Given the description of an element on the screen output the (x, y) to click on. 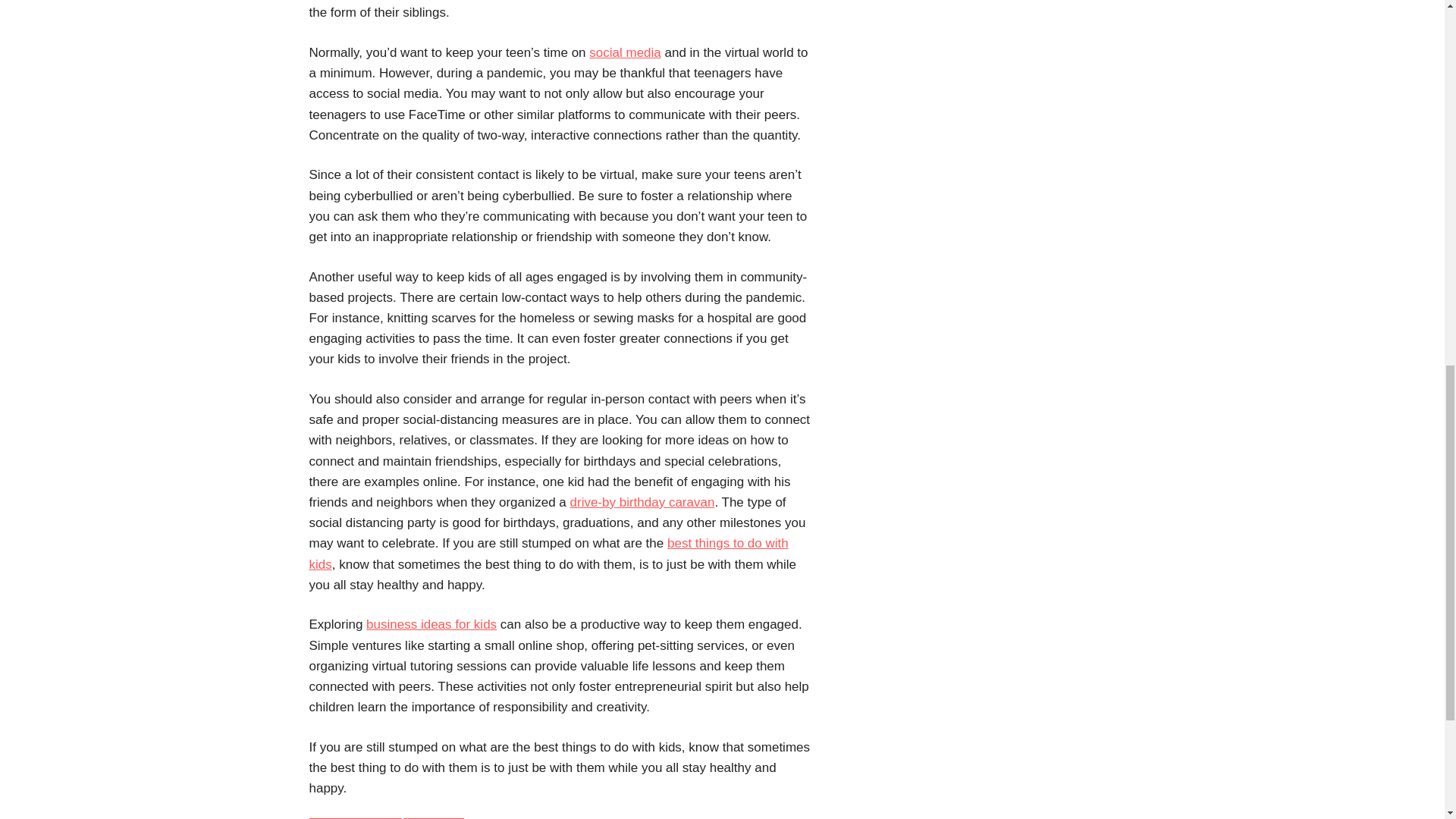
social media (625, 52)
best things to do with kids (548, 553)
Pandemic (433, 818)
How AR And Social Media Are Challenging Ethics In Beauty (625, 52)
business ideas for kids (431, 624)
drive-by birthday caravan (642, 502)
